Given the description of an element on the screen output the (x, y) to click on. 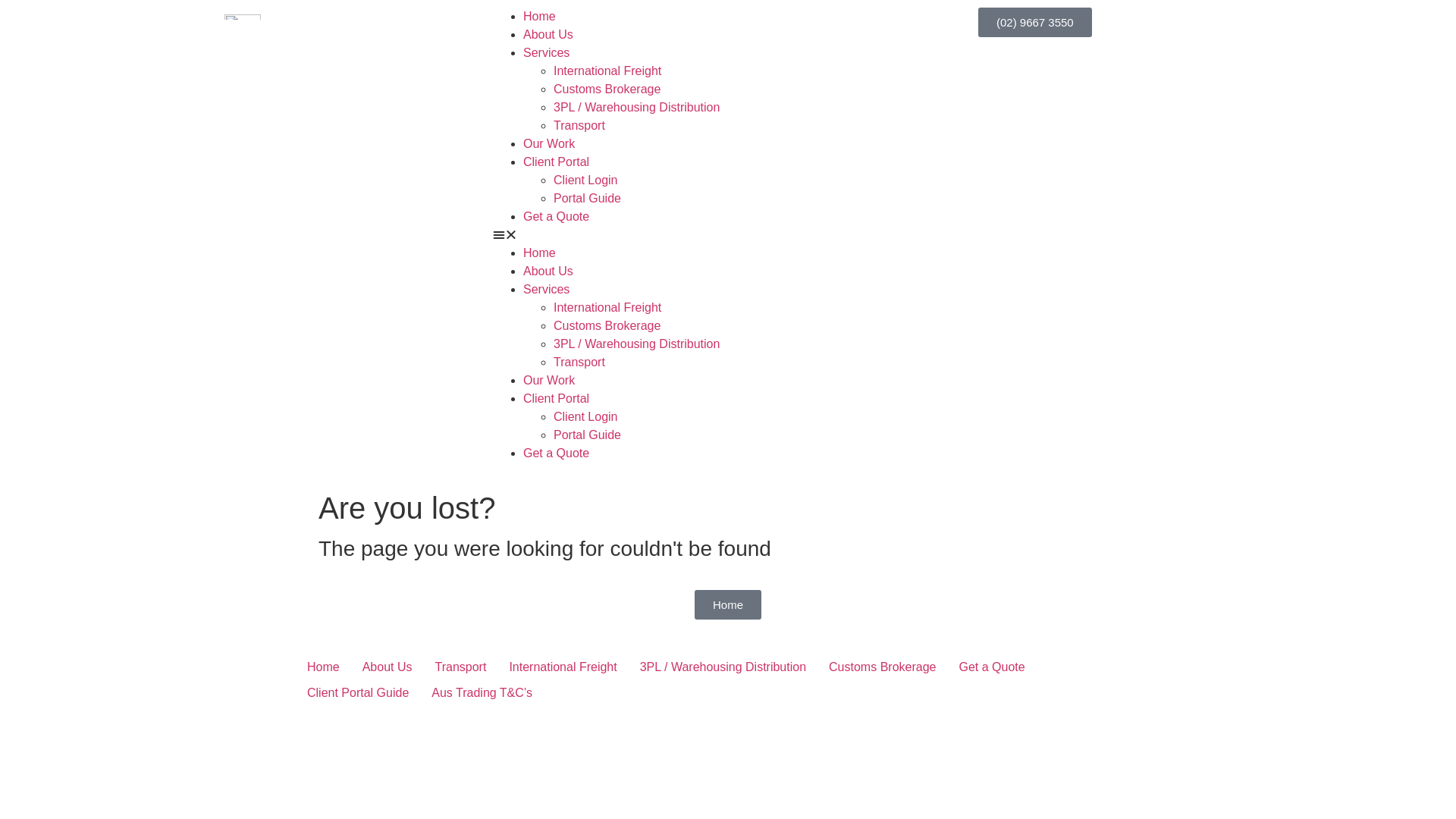
Client Portal Element type: text (556, 161)
About Us Element type: text (387, 667)
Our Work Element type: text (548, 143)
Home Element type: text (323, 667)
Client Login Element type: text (585, 416)
About Us Element type: text (548, 34)
Services Element type: text (546, 288)
Get a Quote Element type: text (556, 216)
Customs Brokerage Element type: text (606, 88)
International Freight Element type: text (607, 70)
3PL / Warehousing Distribution Element type: text (722, 667)
Get a Quote Element type: text (991, 667)
Customs Brokerage Element type: text (606, 325)
Get a Quote Element type: text (556, 452)
Our Work Element type: text (548, 379)
3PL / Warehousing Distribution Element type: text (636, 106)
Transport Element type: text (460, 667)
(02) 9667 3550 Element type: text (1035, 22)
Portal Guide Element type: text (587, 434)
International Freight Element type: text (562, 667)
Services Element type: text (546, 52)
Client Login Element type: text (585, 179)
Client Portal Element type: text (556, 398)
Portal Guide Element type: text (587, 197)
Home Element type: text (539, 15)
Customs Brokerage Element type: text (882, 667)
Client Portal Guide Element type: text (357, 693)
Transport Element type: text (579, 125)
Home Element type: text (539, 252)
Transport Element type: text (579, 361)
3PL / Warehousing Distribution Element type: text (636, 343)
Home Element type: text (727, 604)
International Freight Element type: text (607, 307)
About Us Element type: text (548, 270)
